Given the description of an element on the screen output the (x, y) to click on. 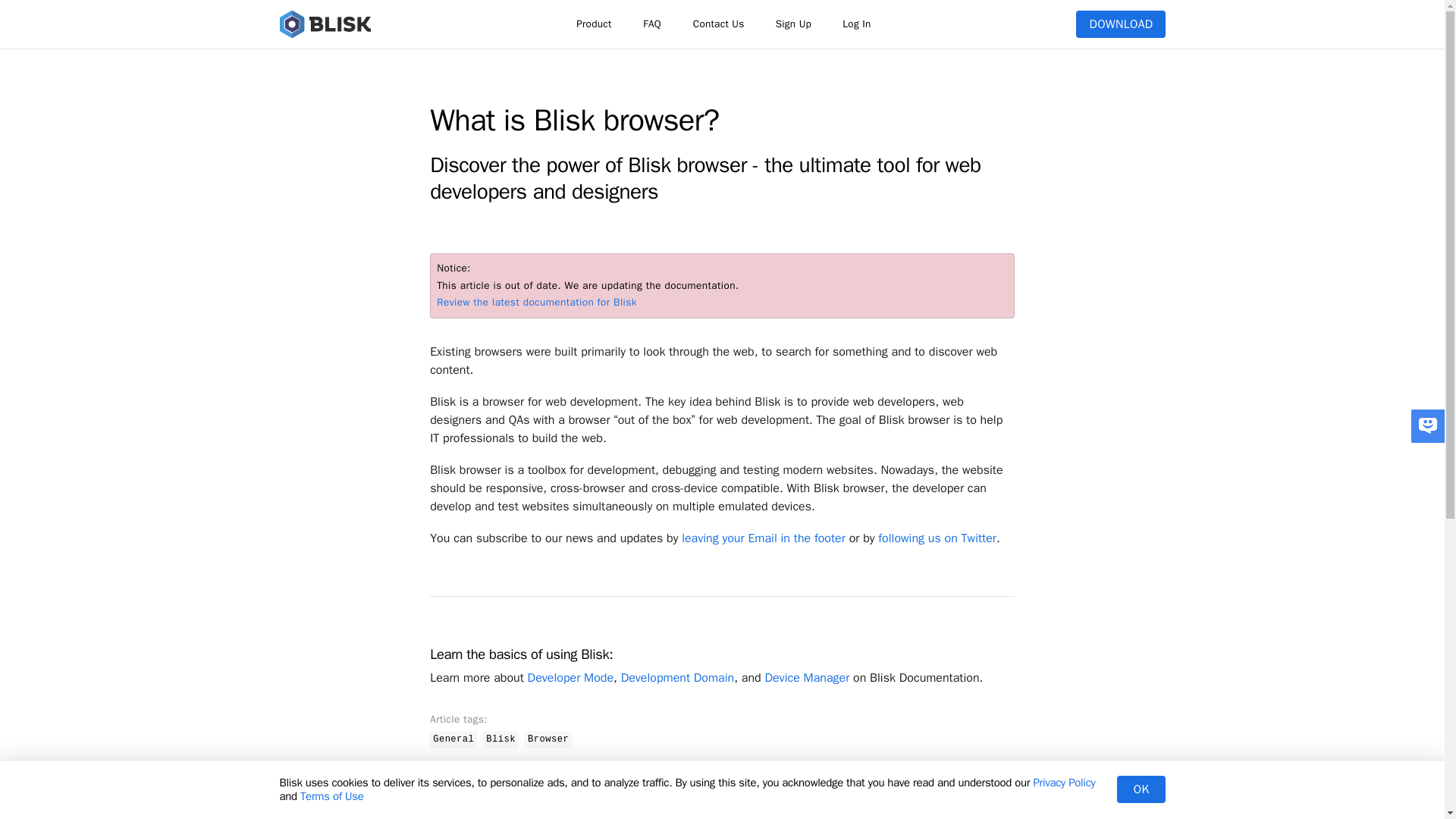
Device Manager (806, 677)
Log In (855, 24)
Contact Us (718, 24)
following us on Twitter (936, 538)
Log In (856, 23)
Review the latest documentation for Blisk (536, 301)
Sign Up (792, 23)
FAQ (652, 23)
FAQ (652, 24)
DOWNLOAD (1119, 23)
Contact Us (718, 23)
Developer Mode (569, 677)
leaving your Email in the footer (763, 538)
Product (593, 23)
Sign Up (793, 24)
